Given the description of an element on the screen output the (x, y) to click on. 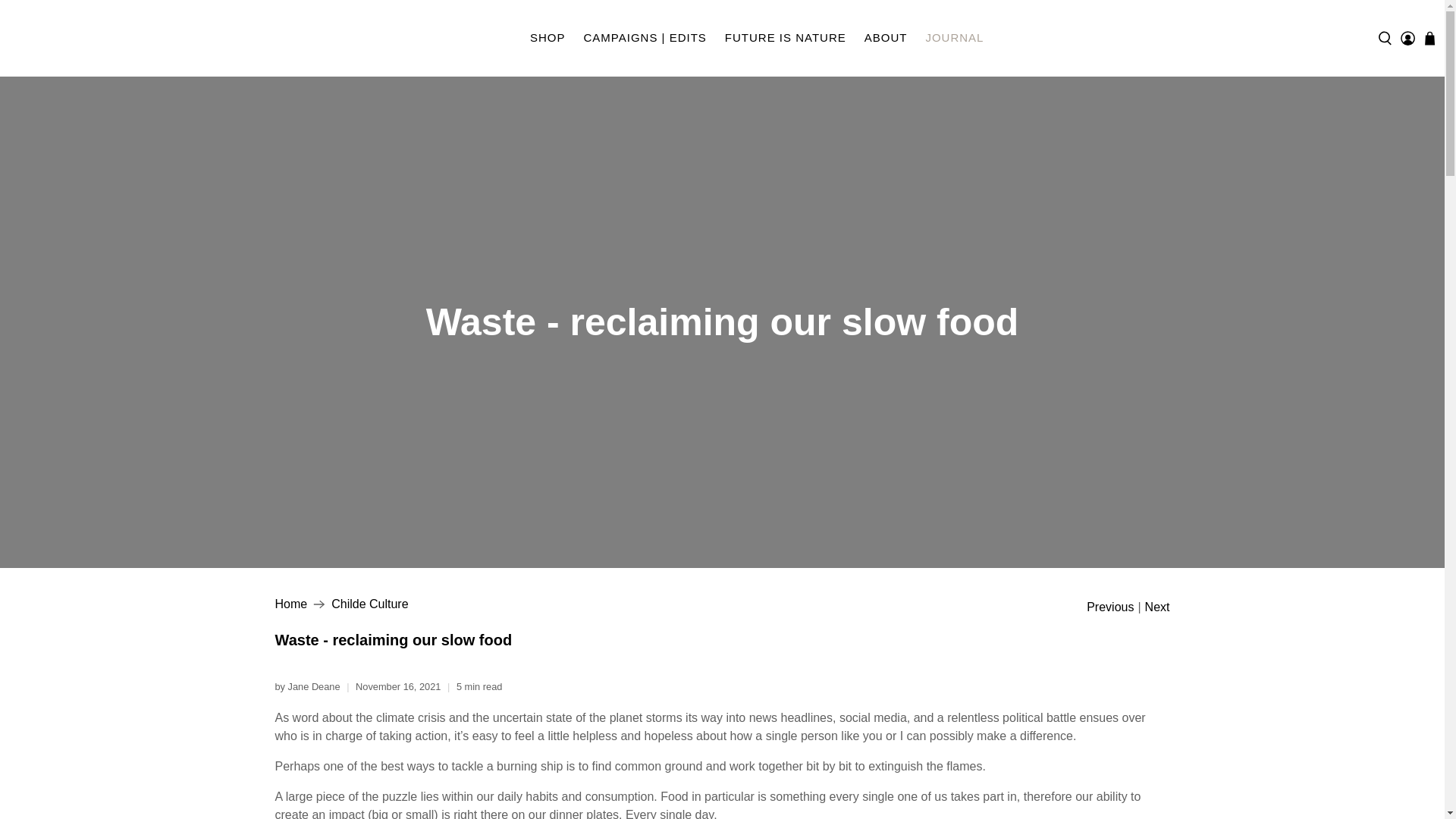
FUTURE IS NATURE (786, 37)
ABOUT (886, 37)
Childe Eyewear (73, 38)
Next (1157, 607)
Childe Culture (369, 604)
Previous (1110, 607)
JOURNAL (953, 37)
SHOP (548, 37)
Childe Eyewear (291, 604)
